Given the description of an element on the screen output the (x, y) to click on. 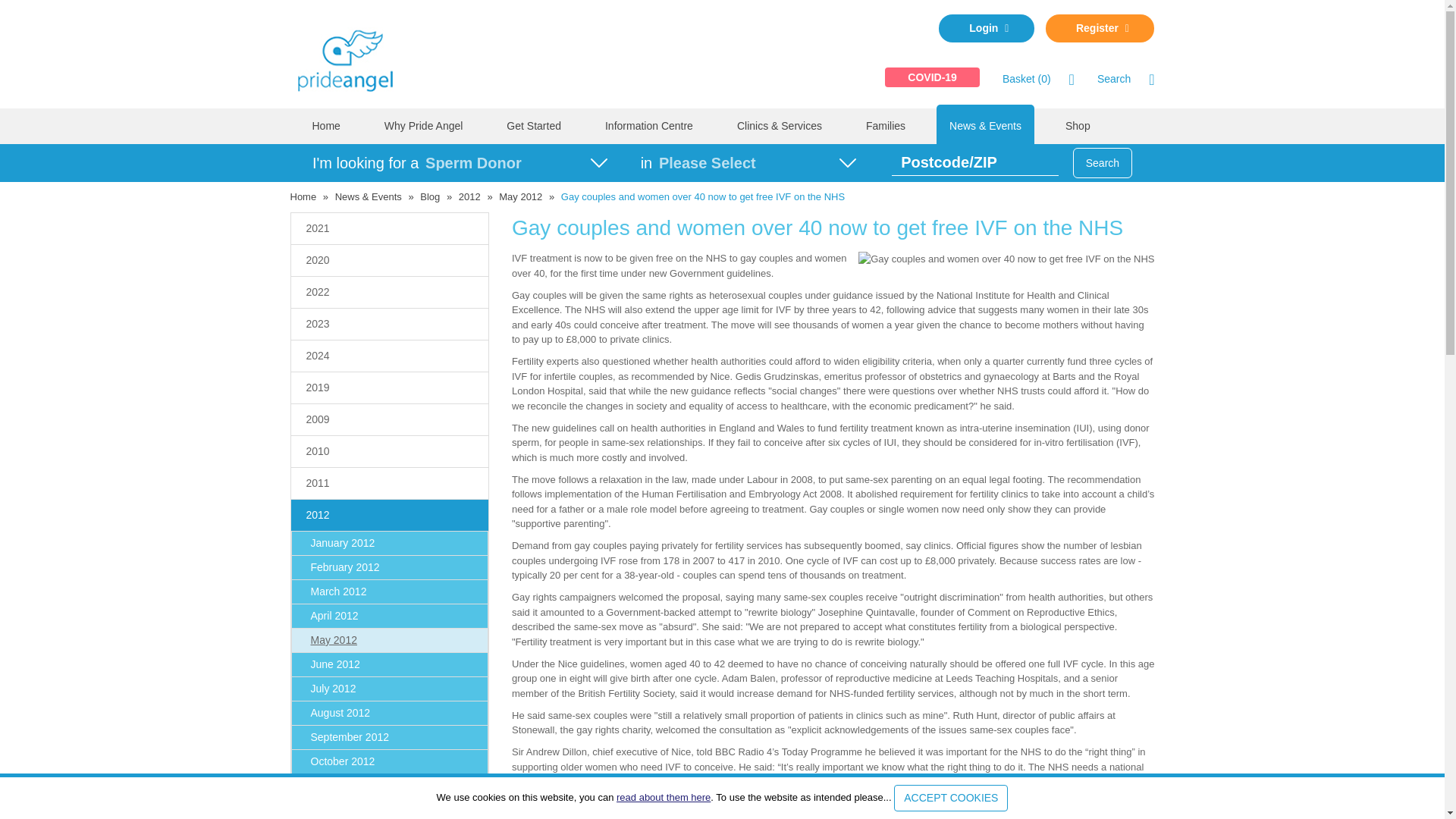
Pride Angel (351, 57)
Search (1114, 78)
May 2012 (520, 196)
Basket (1026, 78)
Blog (429, 196)
Login (986, 28)
Register (1099, 28)
2012 (469, 196)
COVID-19 (932, 76)
